Given the description of an element on the screen output the (x, y) to click on. 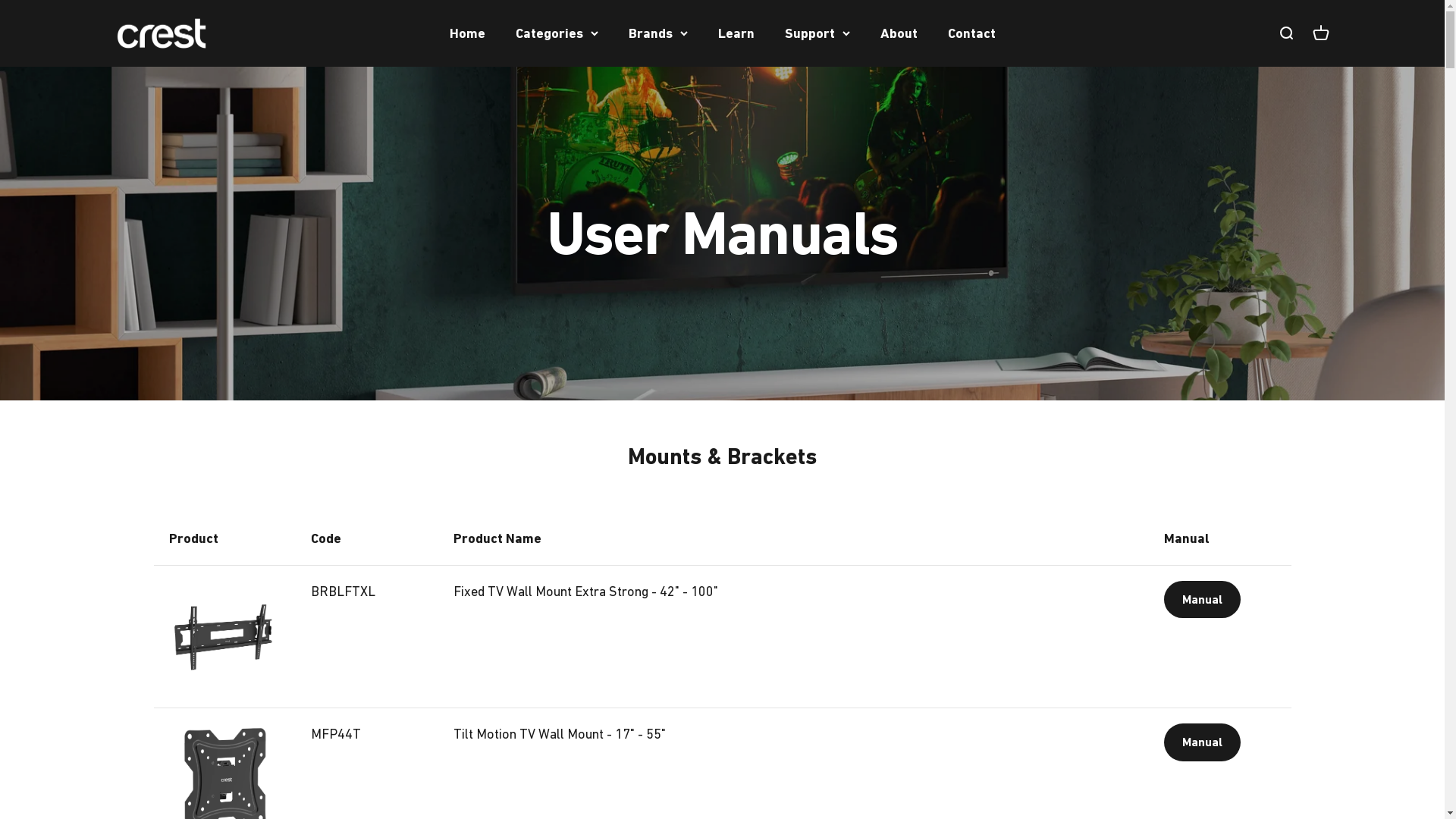
Manual Element type: text (1202, 742)
The Crest Company Element type: text (160, 33)
Learn Element type: text (735, 32)
Manual Element type: text (1202, 599)
Contact Element type: text (971, 32)
Home Element type: text (466, 32)
Manual Element type: text (1202, 599)
Open search Element type: text (1285, 33)
Open cart
0 Element type: text (1319, 33)
About Element type: text (897, 32)
Manual Element type: text (1202, 741)
